Given the description of an element on the screen output the (x, y) to click on. 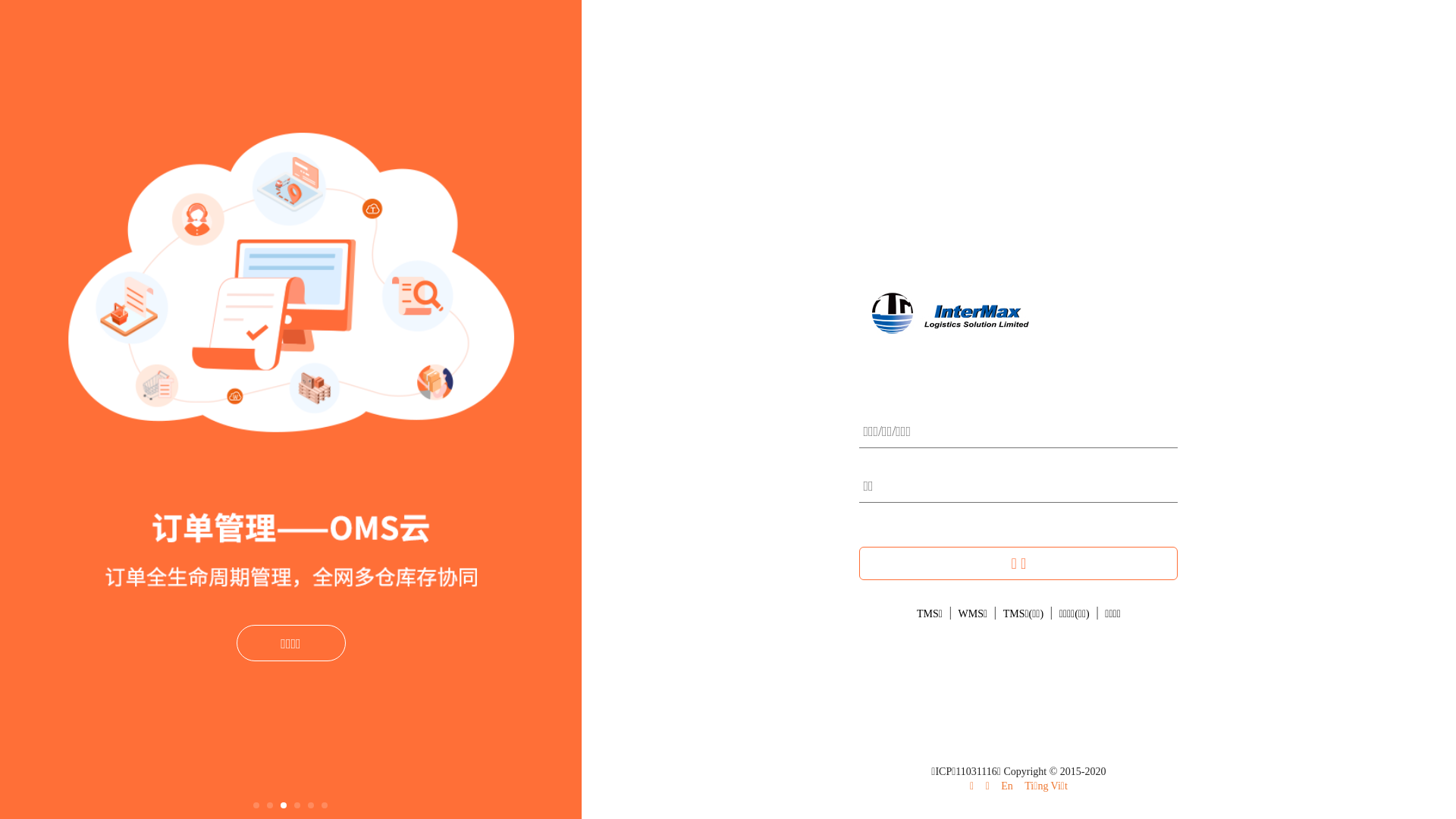
En Element type: text (1007, 785)
